Given the description of an element on the screen output the (x, y) to click on. 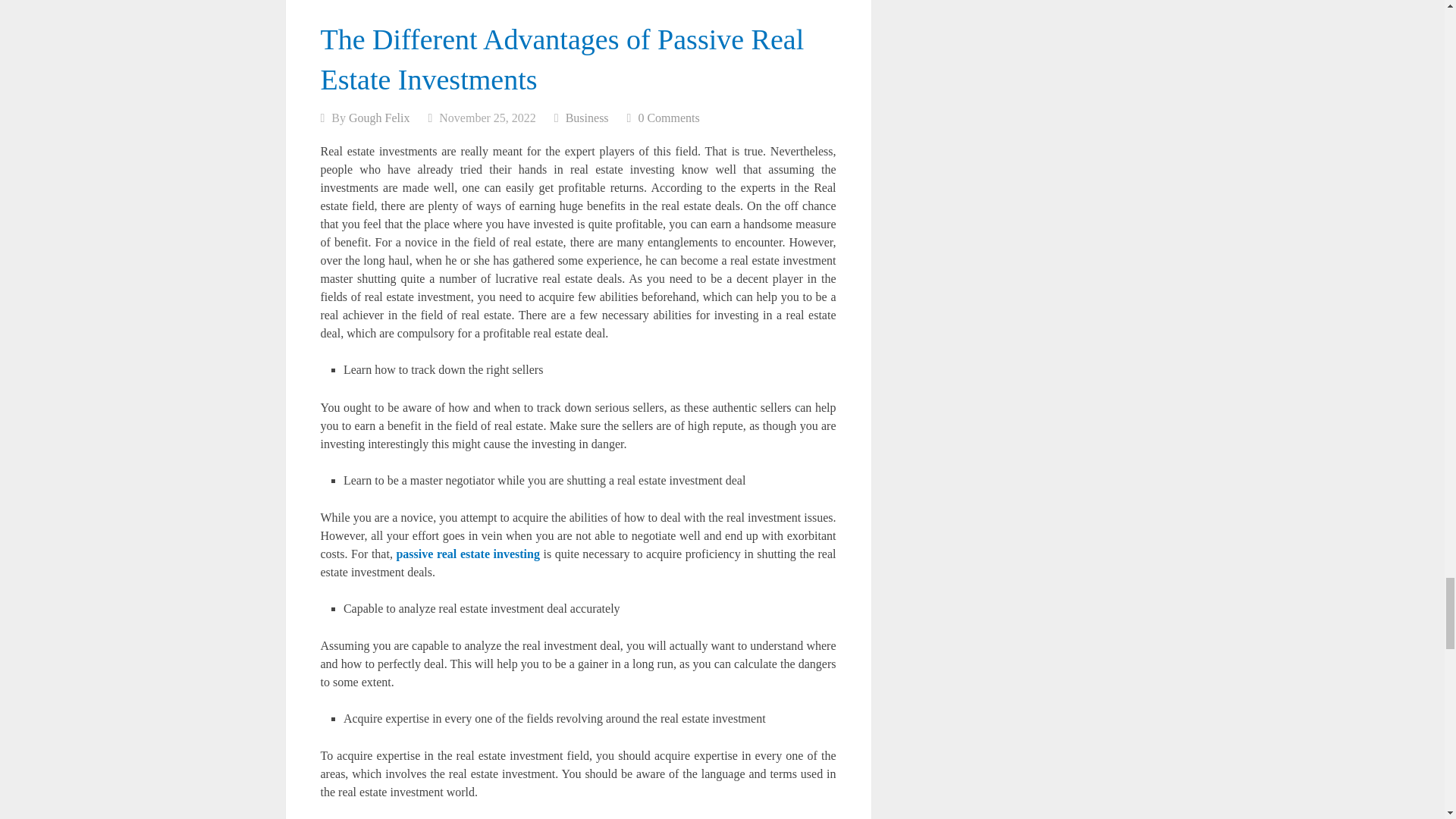
The Different Advantages of Passive Real Estate Investments (561, 59)
